Given the description of an element on the screen output the (x, y) to click on. 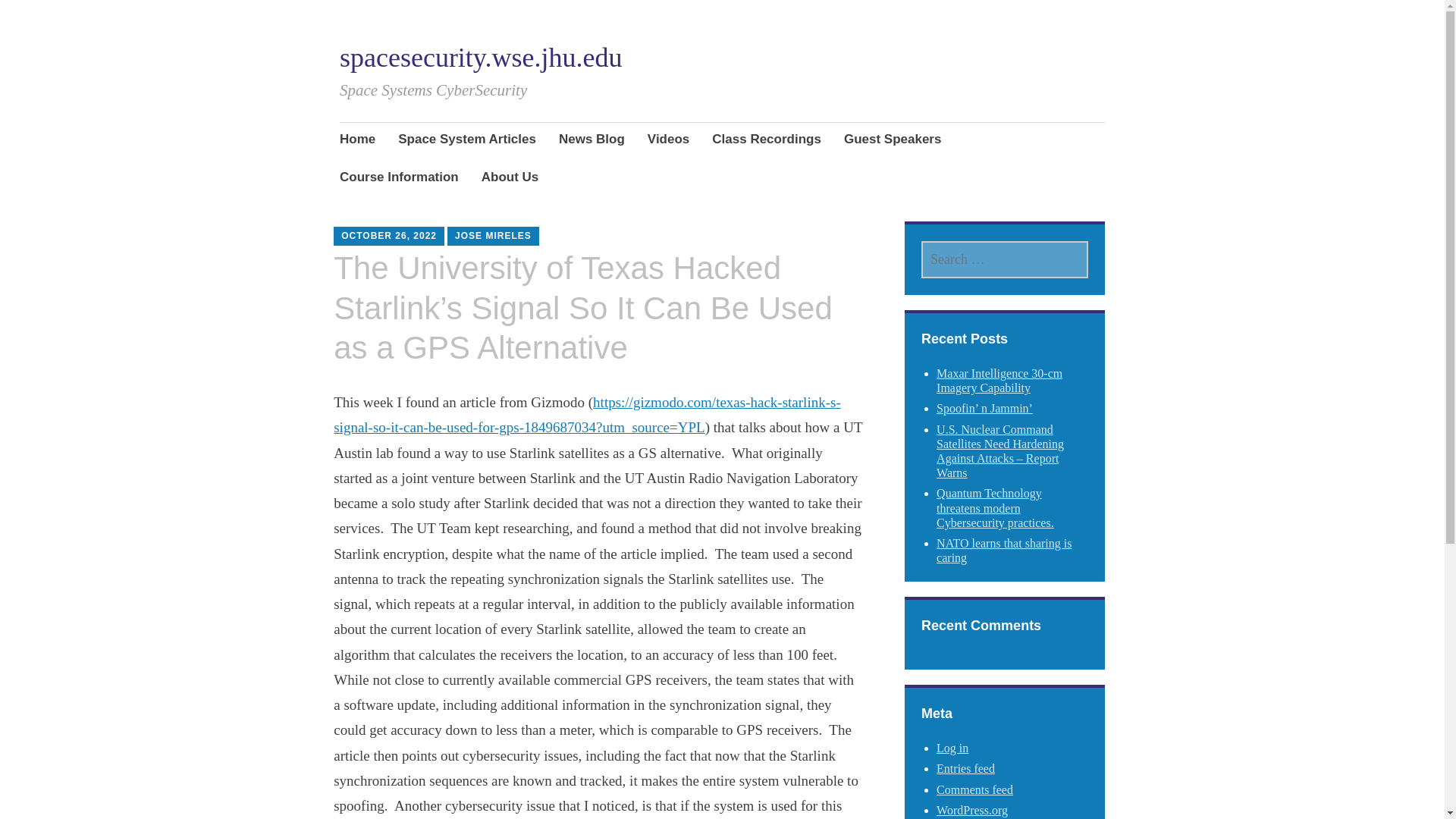
Maxar Intelligence 30-cm Imagery Capability (999, 379)
Course Information (398, 178)
spacesecurity.wse.jhu.edu (481, 57)
Entries feed (965, 768)
Home (357, 140)
Videos (667, 140)
Guest Speakers (893, 140)
Log in (952, 748)
Comments feed (974, 789)
WordPress.org (971, 809)
JOSE MIRELES (492, 235)
News Blog (591, 140)
Class Recordings (766, 140)
Space System Articles (466, 140)
NATO learns that sharing is caring (1003, 550)
